Given the description of an element on the screen output the (x, y) to click on. 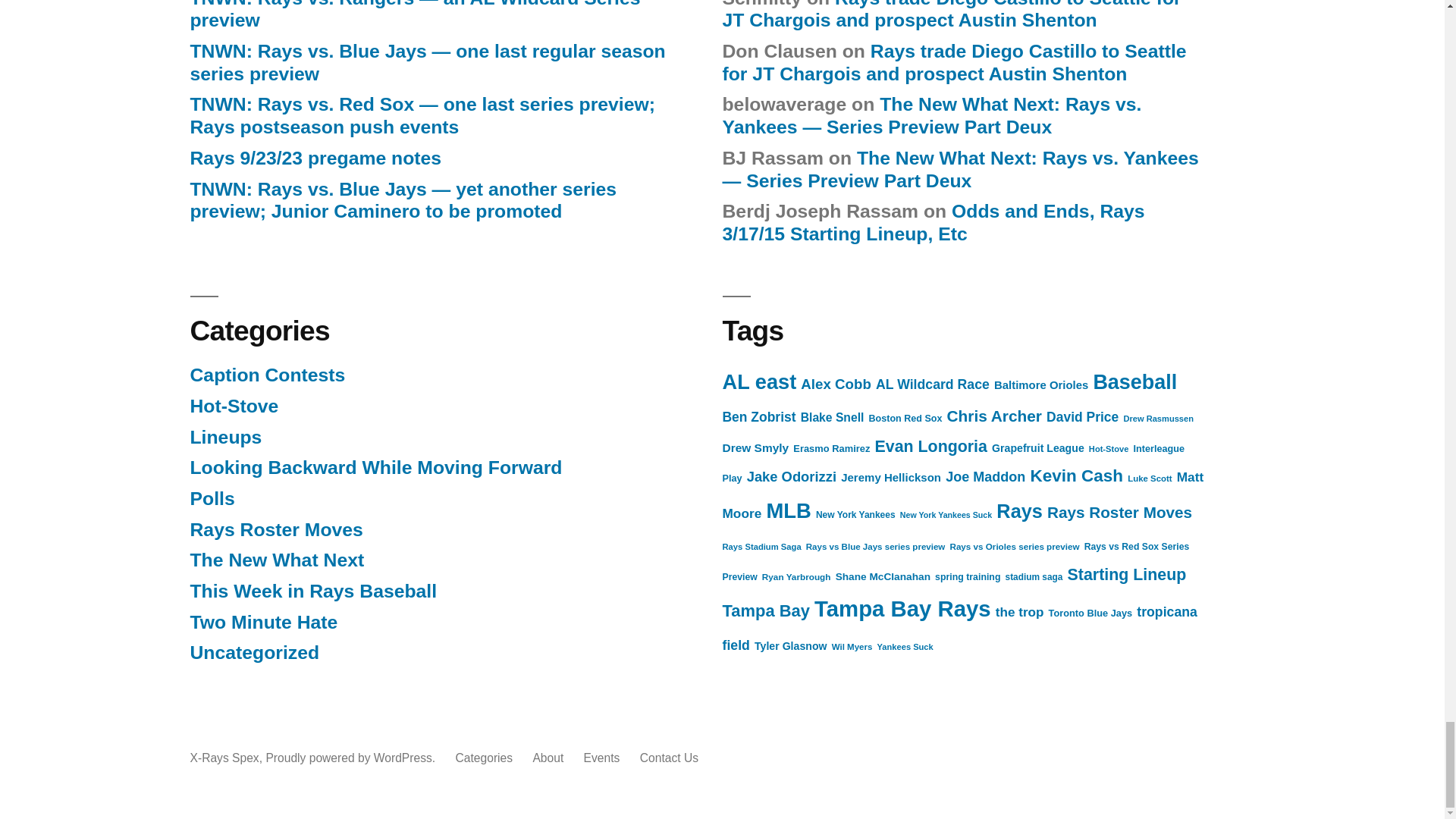
Series previews etc. (276, 559)
